Given the description of an element on the screen output the (x, y) to click on. 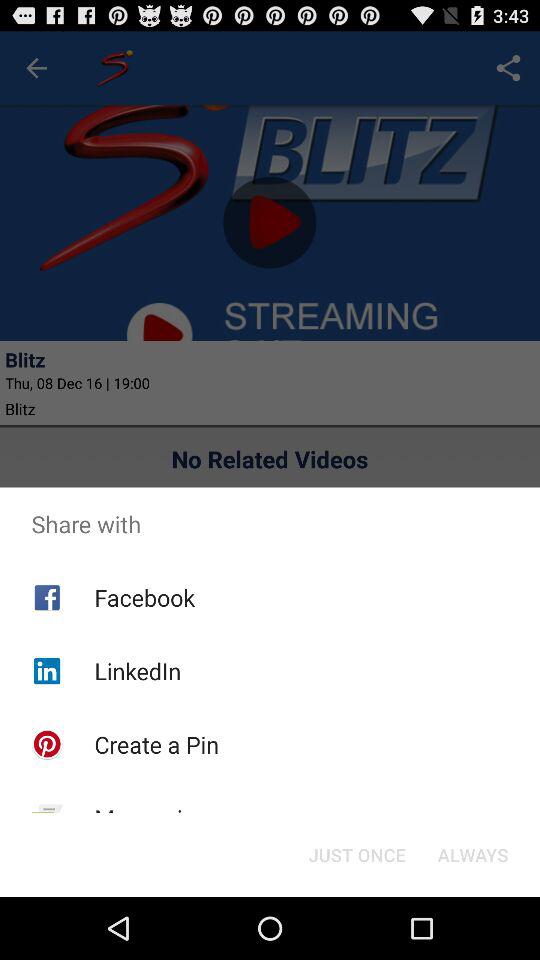
open facebook app (144, 597)
